Given the description of an element on the screen output the (x, y) to click on. 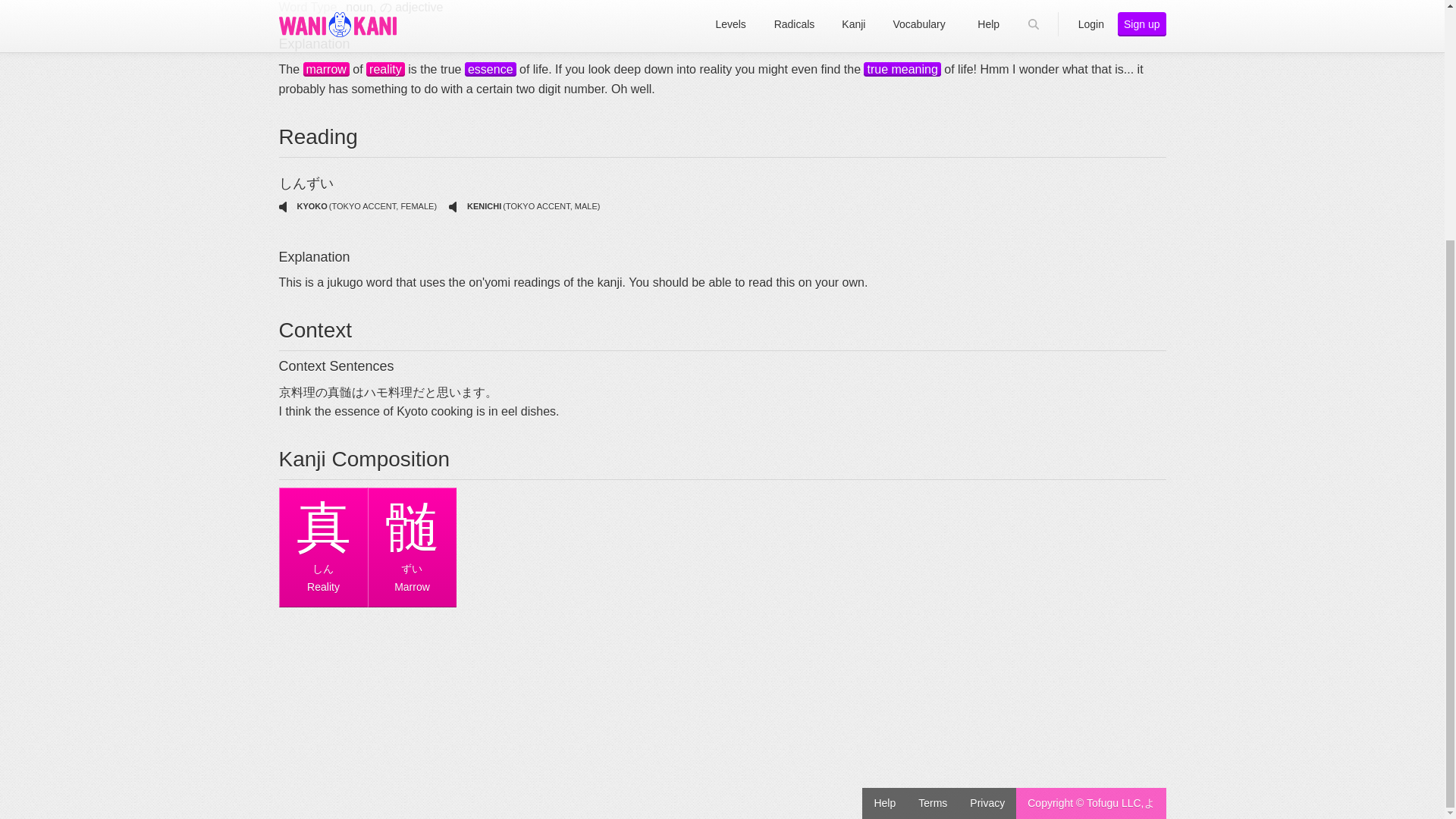
Vocabulary (901, 69)
Kanji (325, 69)
Vocabulary (490, 69)
Kanji (385, 69)
